Given the description of an element on the screen output the (x, y) to click on. 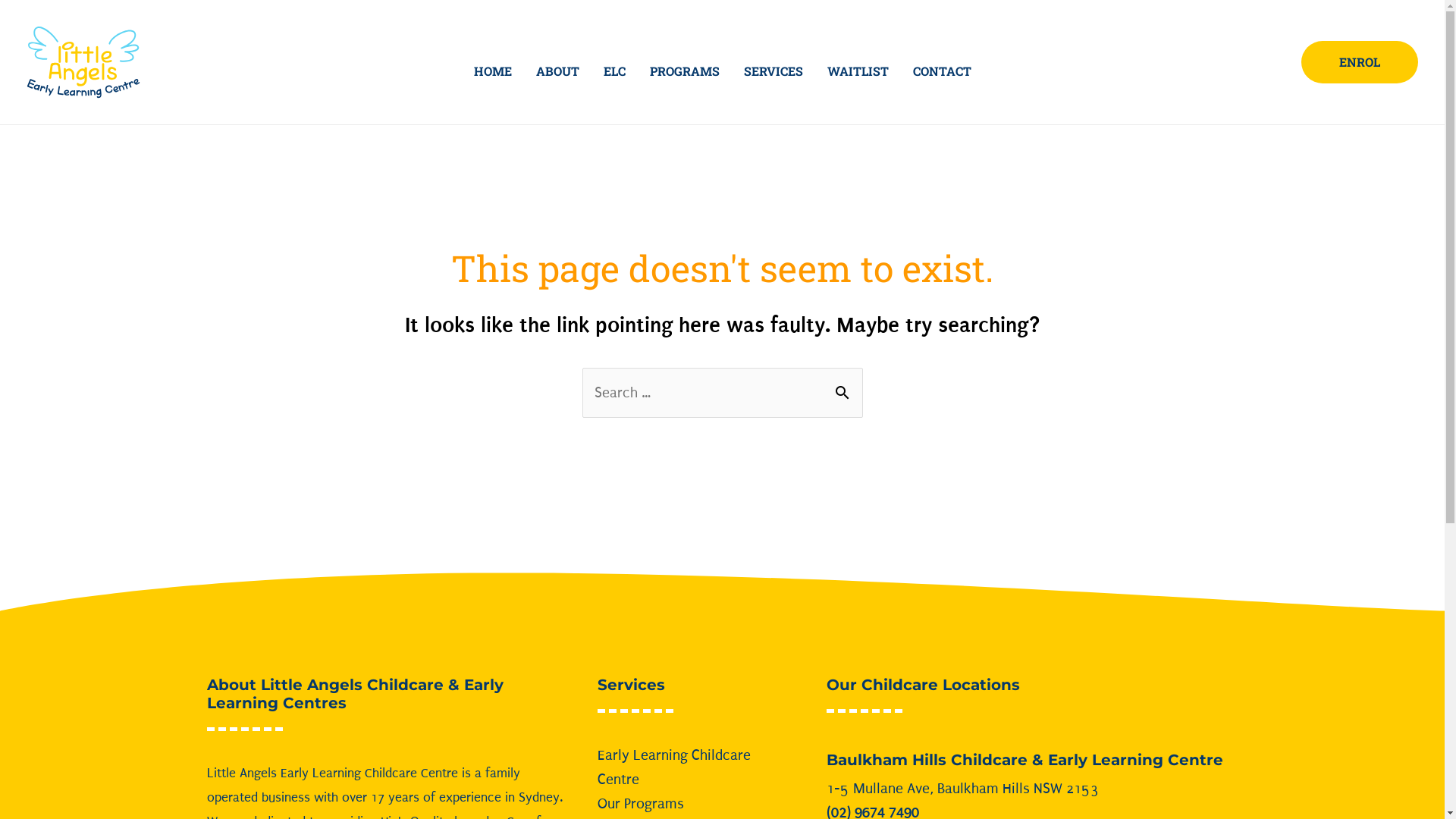
Our Programs Element type: text (640, 803)
PROGRAMS Element type: text (684, 71)
WAITLIST Element type: text (857, 71)
CONTACT Element type: text (941, 71)
SERVICES Element type: text (772, 71)
ELC Element type: text (614, 71)
ABOUT Element type: text (556, 71)
ENROL Element type: text (1359, 61)
Early Learning Childcare Centre Element type: text (673, 766)
HOME Element type: text (492, 71)
Search Element type: text (845, 383)
